Given the description of an element on the screen output the (x, y) to click on. 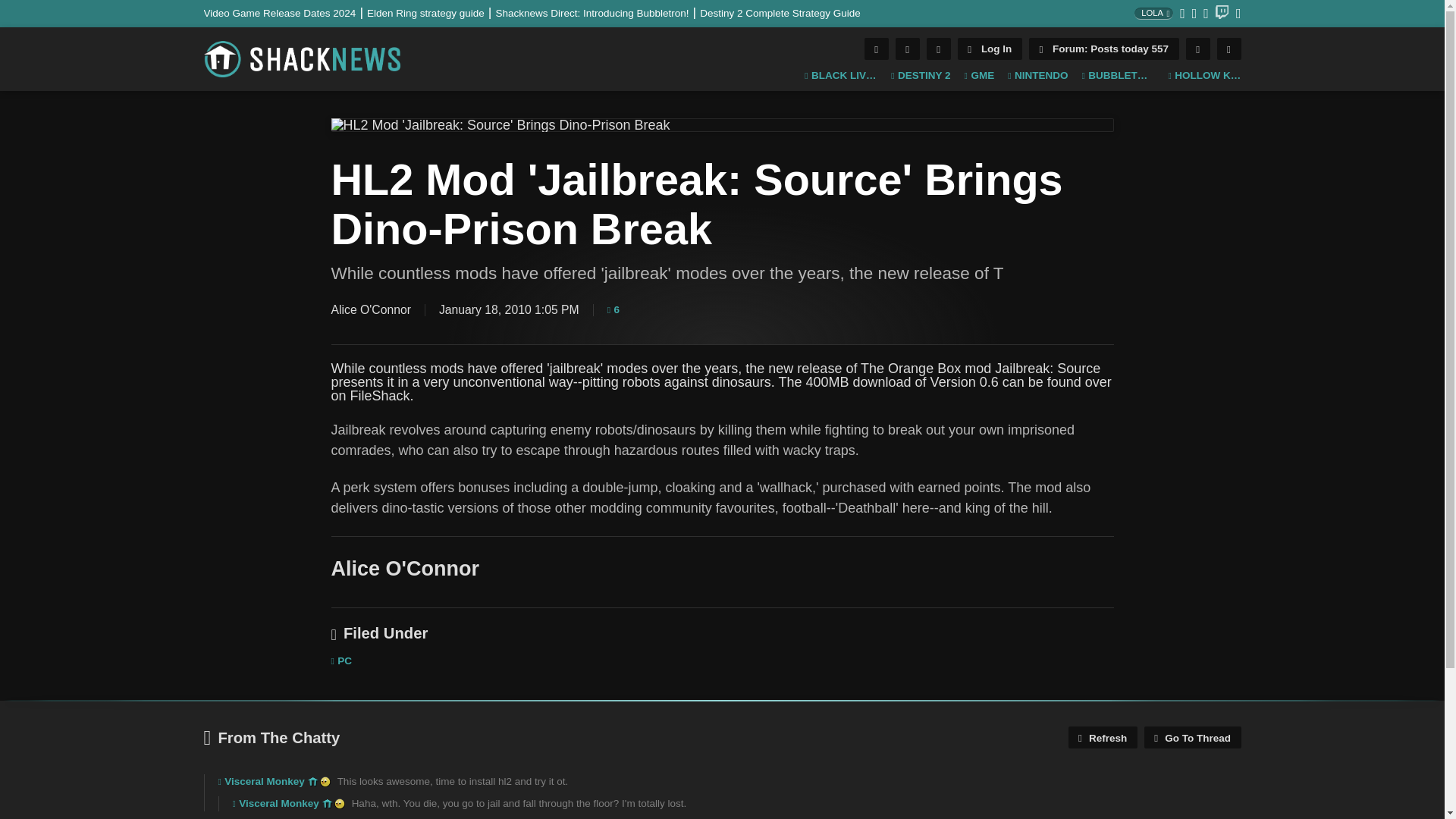
NINTENDO (1037, 75)
legacy 20 years (325, 781)
BLACK LIVES MATTER (841, 75)
DESTINY 2 (920, 75)
Elden Ring strategy guide (430, 11)
Shacknews Direct: Introducing Bubbletron! (597, 11)
BUBBLETRON (1117, 75)
6 (613, 309)
HL2 Mod 'Jailbreak: Source' Brings Dino-Prison Break (721, 124)
GME (978, 75)
